Given the description of an element on the screen output the (x, y) to click on. 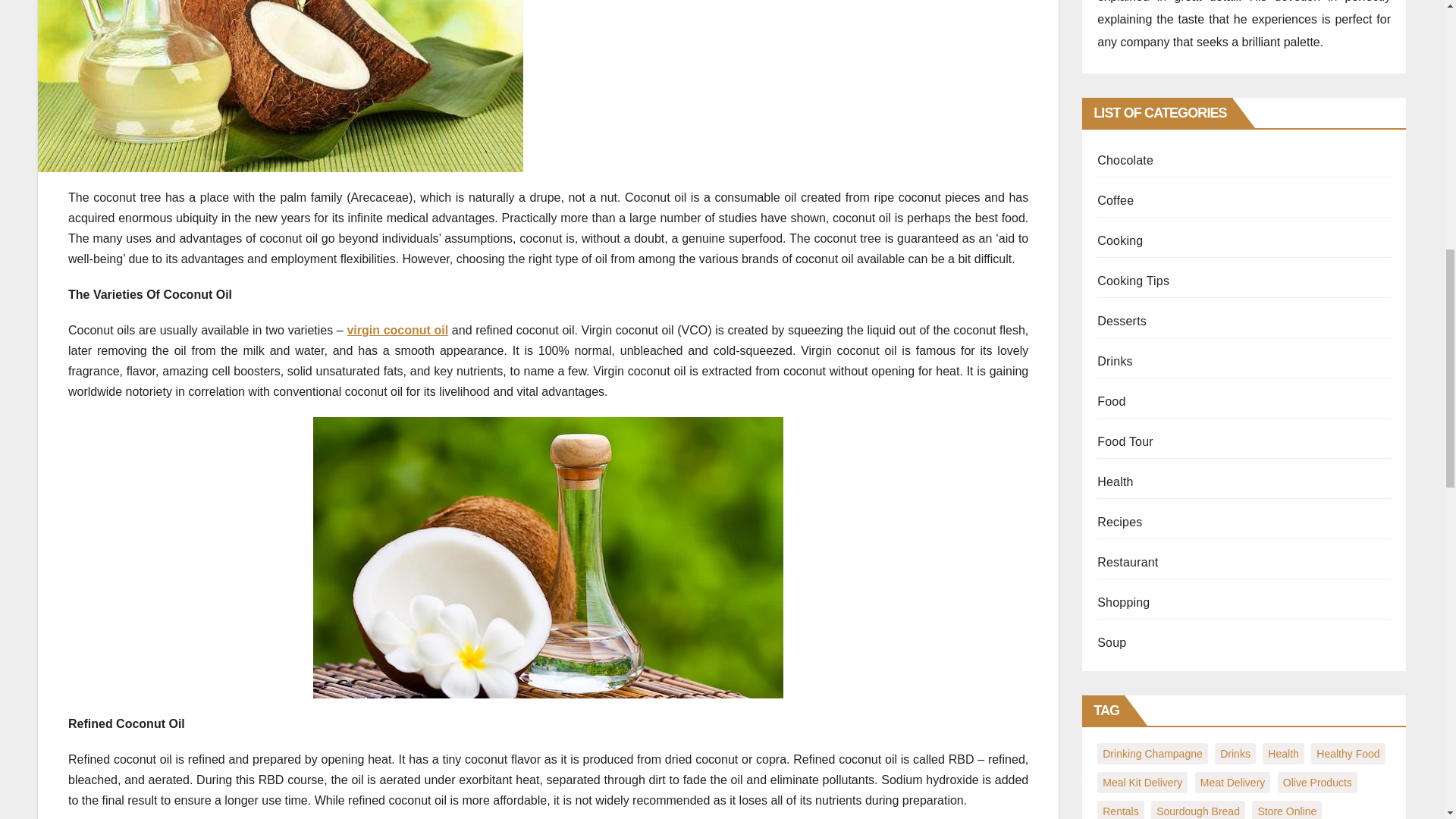
virgin coconut oil (397, 329)
